Given the description of an element on the screen output the (x, y) to click on. 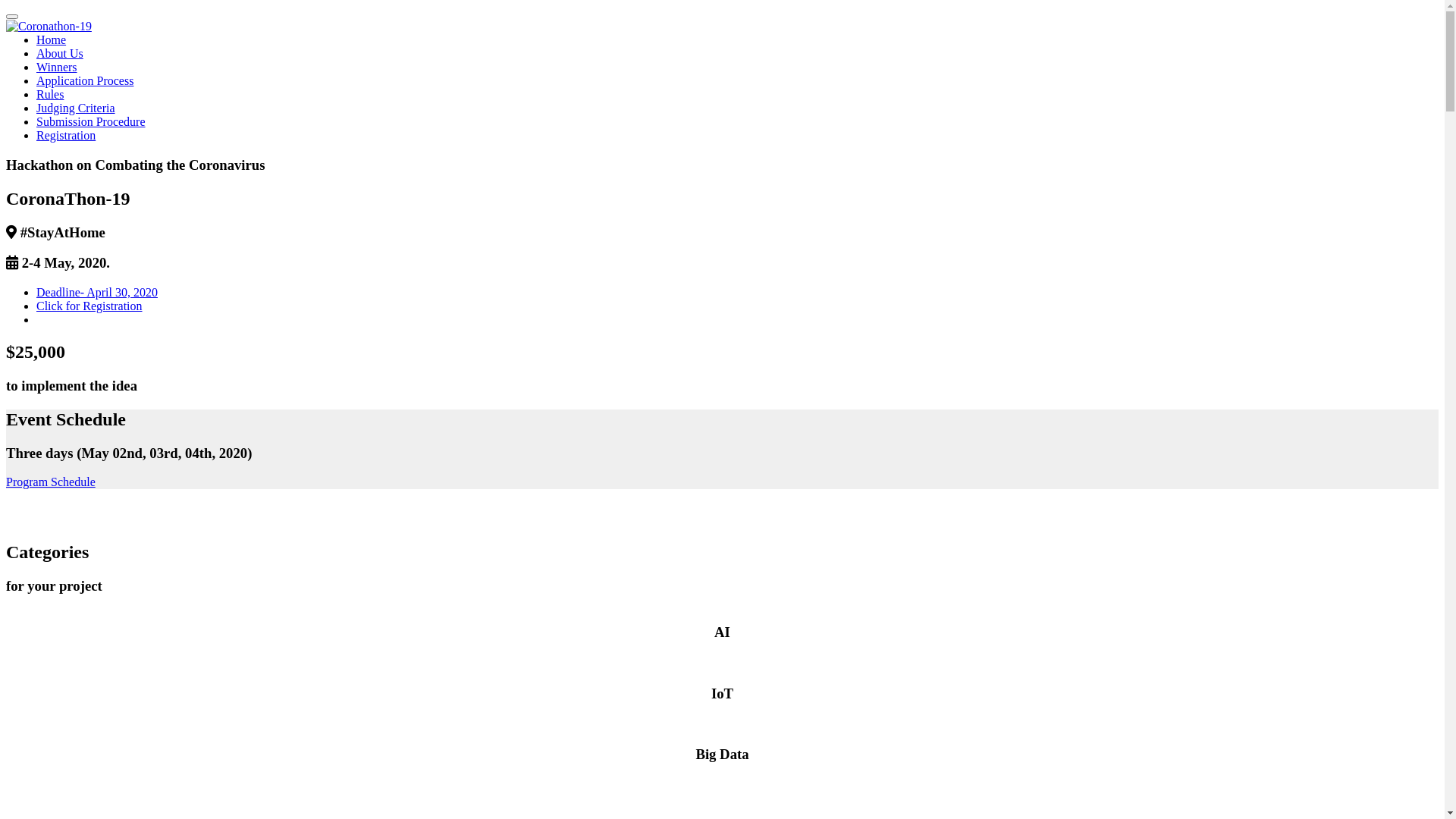
Registration Element type: text (65, 134)
Toggle navigation Element type: text (12, 16)
Click for Registration Element type: text (89, 305)
Program Schedule Element type: text (50, 481)
Home Element type: text (50, 39)
Rules Element type: text (49, 93)
About Us Element type: text (59, 53)
Submission Procedure Element type: text (90, 121)
Deadline- April 30, 2020 Element type: text (96, 291)
Application Process Element type: text (84, 80)
Judging Criteria Element type: text (75, 107)
Winners Element type: text (56, 66)
